Given the description of an element on the screen output the (x, y) to click on. 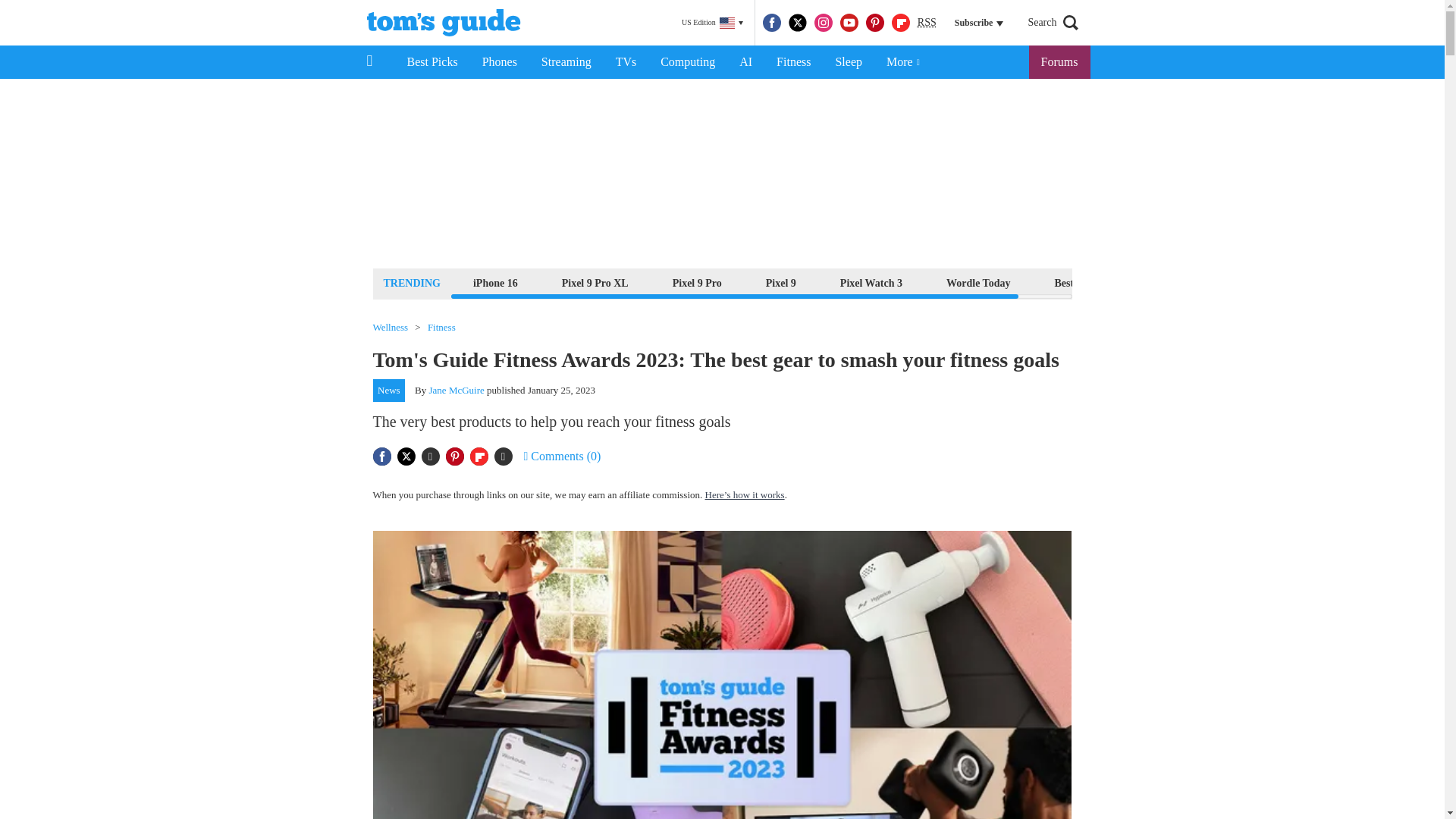
US Edition (712, 22)
Best Picks (431, 61)
Computing (686, 61)
AI (745, 61)
RSS (926, 22)
Really Simple Syndication (926, 21)
TVs (626, 61)
Phones (499, 61)
Sleep (848, 61)
Fitness (793, 61)
